Given the description of an element on the screen output the (x, y) to click on. 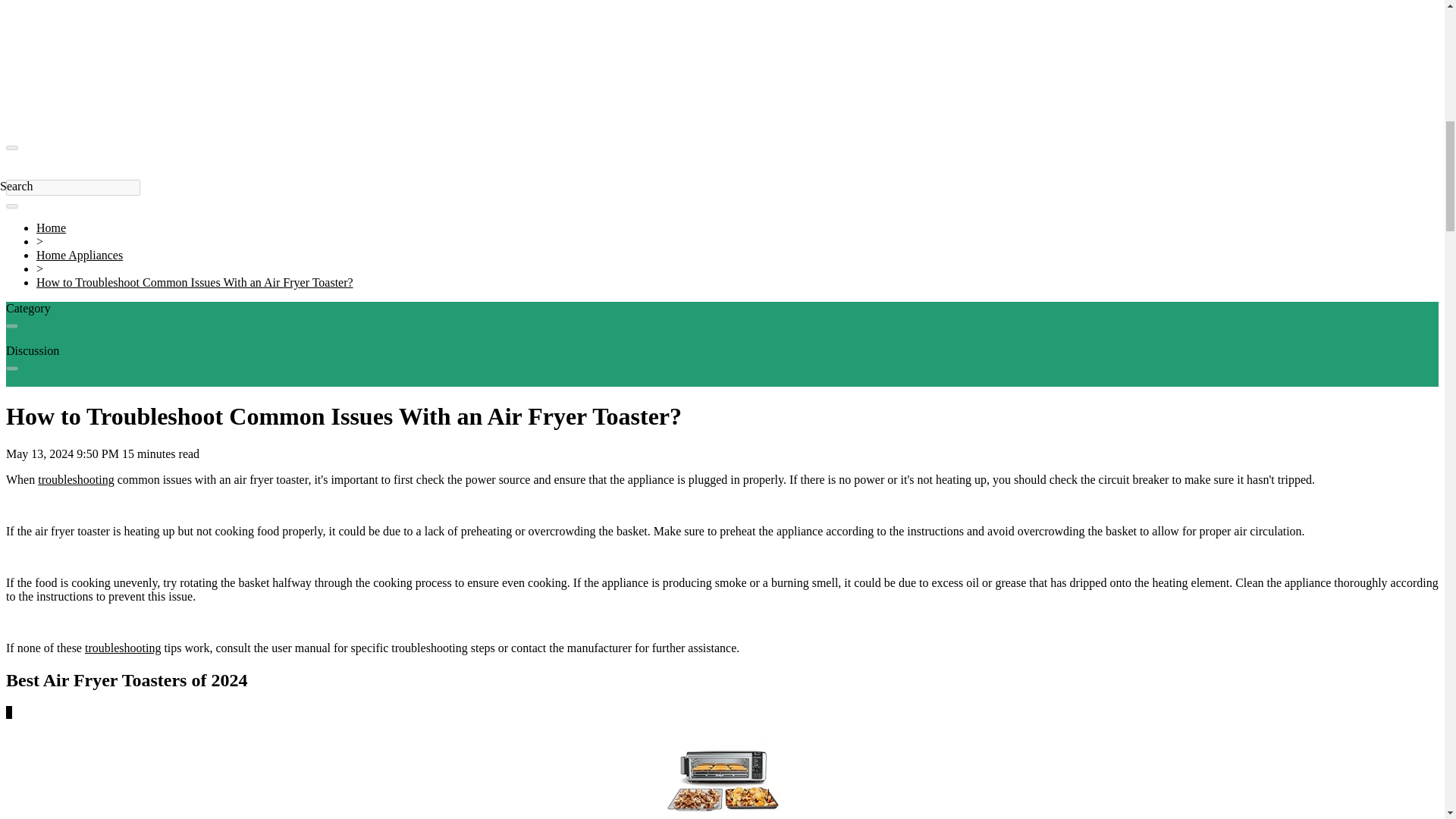
How to Troubleshoot Common Issues With an Air Fryer Toaster? (194, 282)
Home Appliances (79, 254)
troubleshooting (122, 647)
Home (50, 227)
troubleshooting (75, 479)
